Given the description of an element on the screen output the (x, y) to click on. 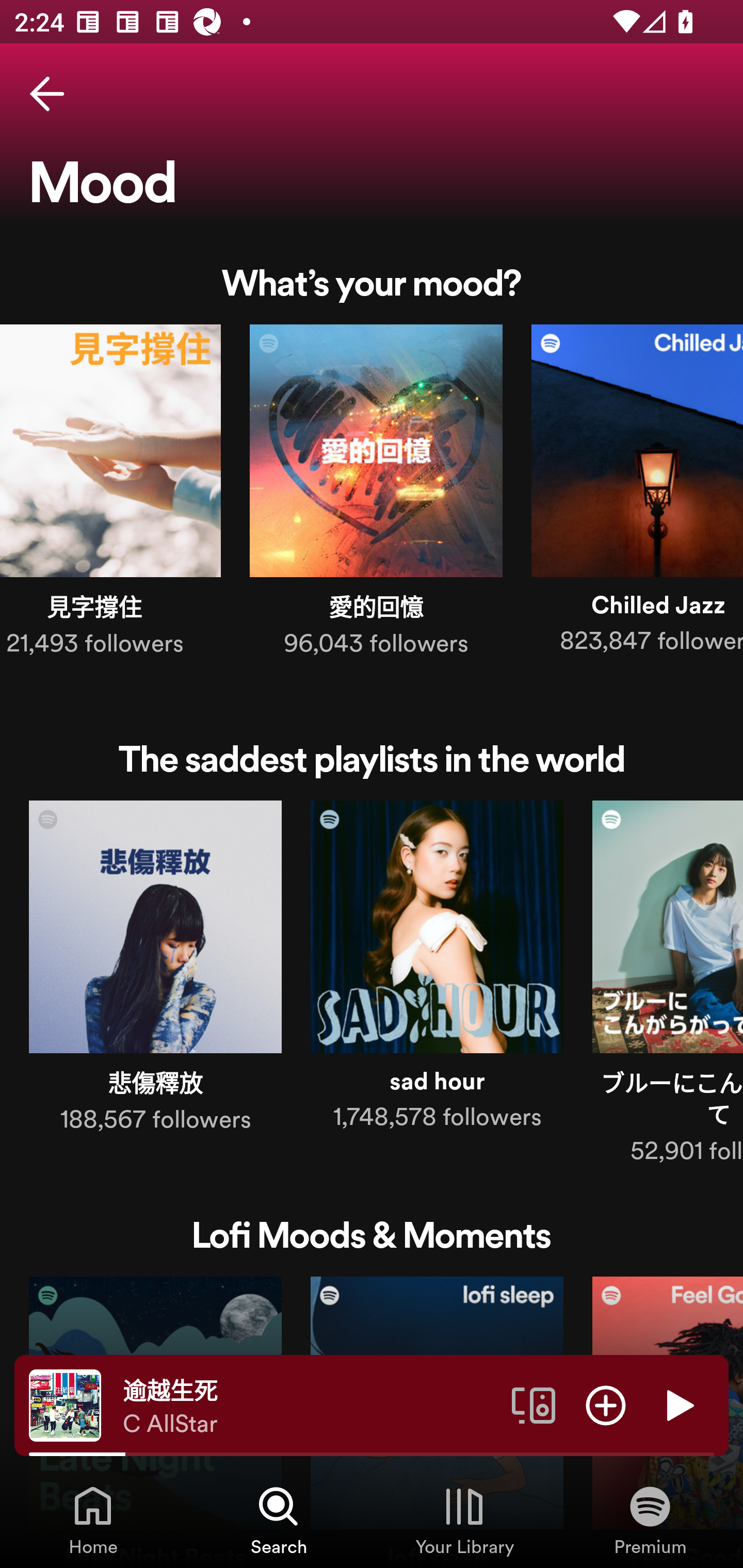
Back (46, 93)
見字撐住
21,493 followers 見字撐住 21,493 followers (110, 494)
愛的回憶
96,043 followers 愛的回憶 96,043 followers (375, 494)
悲傷釋放
188,567 followers 悲傷釋放 188,567 followers (154, 971)
逾越生死 C AllStar (309, 1405)
The cover art of the currently playing track (64, 1404)
Connect to a device. Opens the devices menu (533, 1404)
Add item (605, 1404)
Play (677, 1404)
Home, Tab 1 of 4 Home Home (92, 1519)
Search, Tab 2 of 4 Search Search (278, 1519)
Your Library, Tab 3 of 4 Your Library Your Library (464, 1519)
Premium, Tab 4 of 4 Premium Premium (650, 1519)
